Given the description of an element on the screen output the (x, y) to click on. 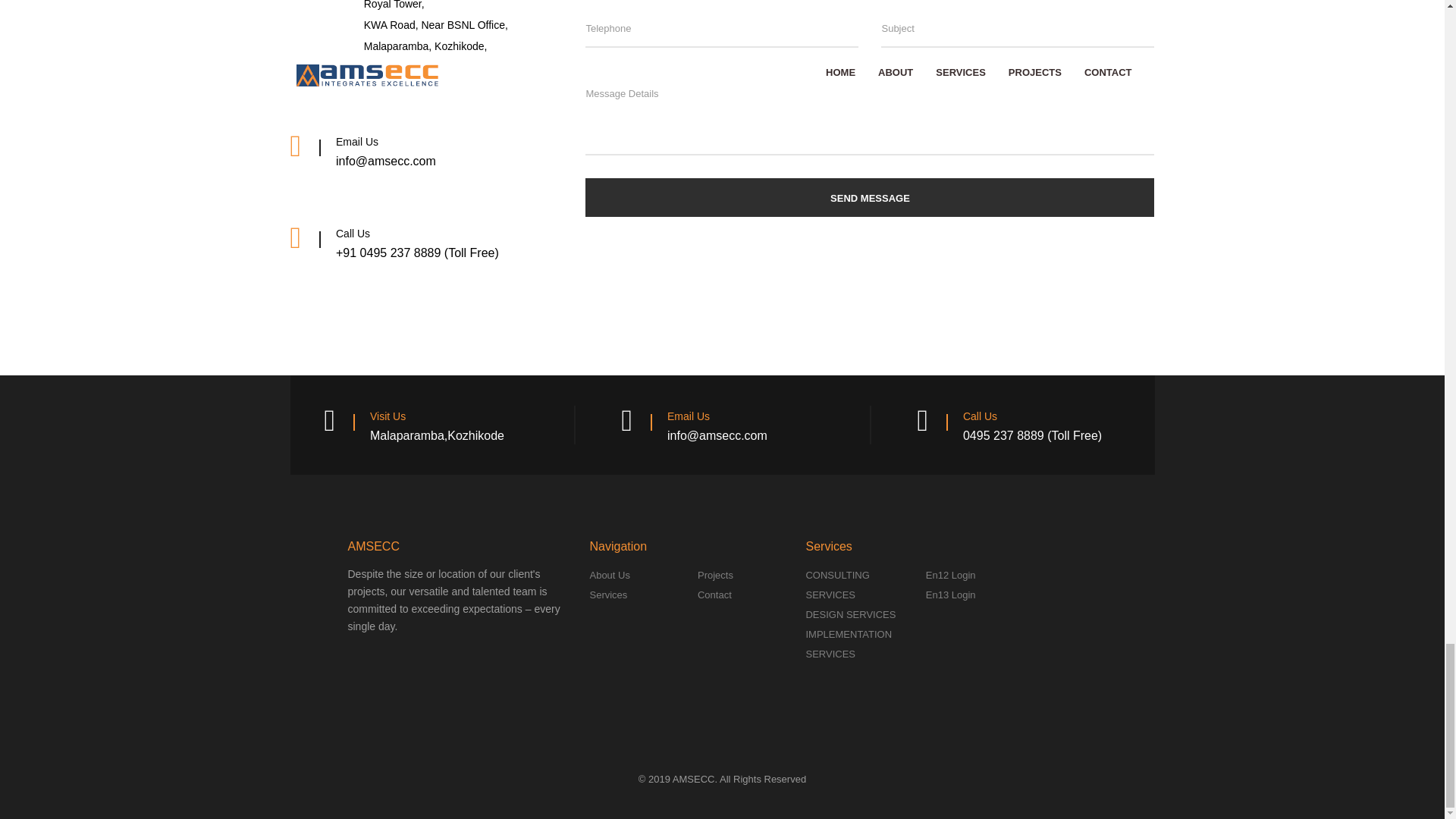
IMPLEMENTATION SERVICES (848, 643)
CONSULTING SERVICES (837, 583)
DESIGN SERVICES (850, 613)
Services (608, 593)
En13 Login (950, 593)
Projects (715, 573)
About Us (608, 573)
SEND MESSAGE (869, 196)
En12 Login (950, 573)
Contact (714, 593)
